Given the description of an element on the screen output the (x, y) to click on. 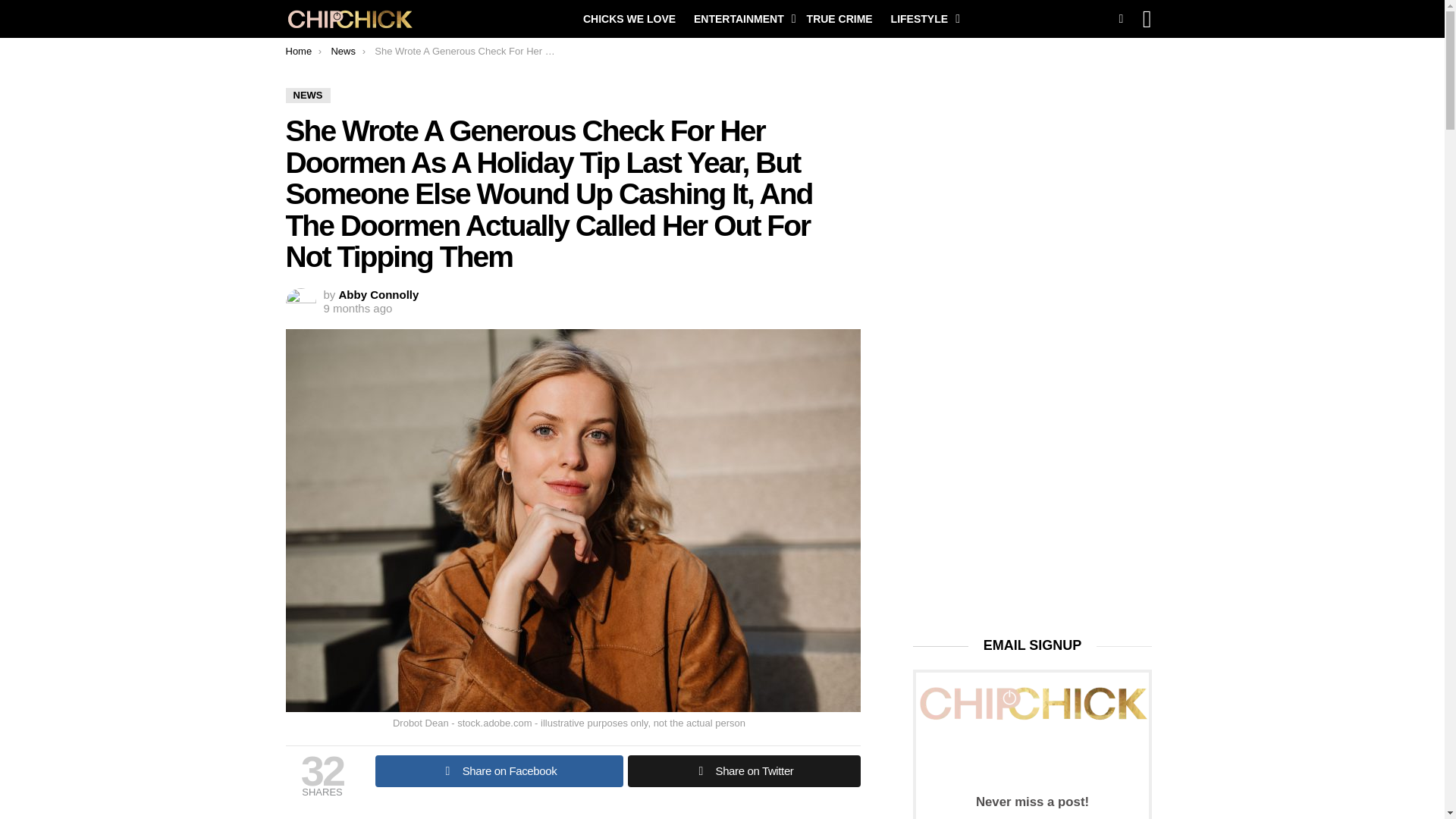
NEWS (307, 95)
CHICKS WE LOVE (628, 18)
News (342, 50)
ENTERTAINMENT (740, 18)
December 6, 2023, 7:00 am (357, 308)
Share on Facebook (498, 771)
Share on Twitter (743, 771)
Home (298, 50)
Posts by Abby Connolly (379, 294)
TRUE CRIME (839, 18)
